Given the description of an element on the screen output the (x, y) to click on. 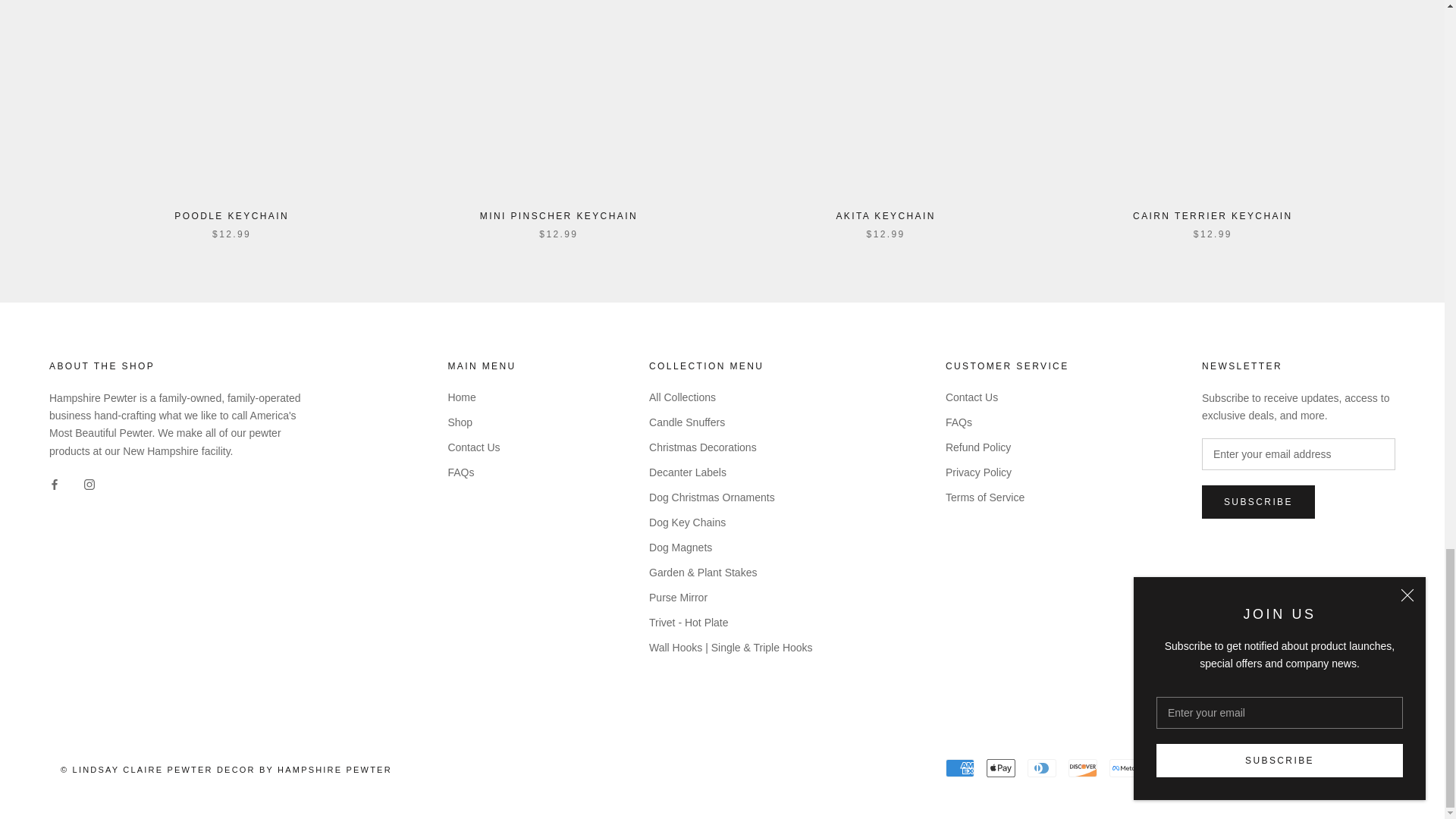
Google Pay (1164, 768)
PayPal (1245, 768)
Discover (1082, 768)
Mastercard (1205, 768)
American Express (959, 768)
Venmo (1328, 768)
Meta Pay (1123, 768)
Apple Pay (1000, 768)
Shop Pay (1286, 768)
Diners Club (1042, 768)
